Given the description of an element on the screen output the (x, y) to click on. 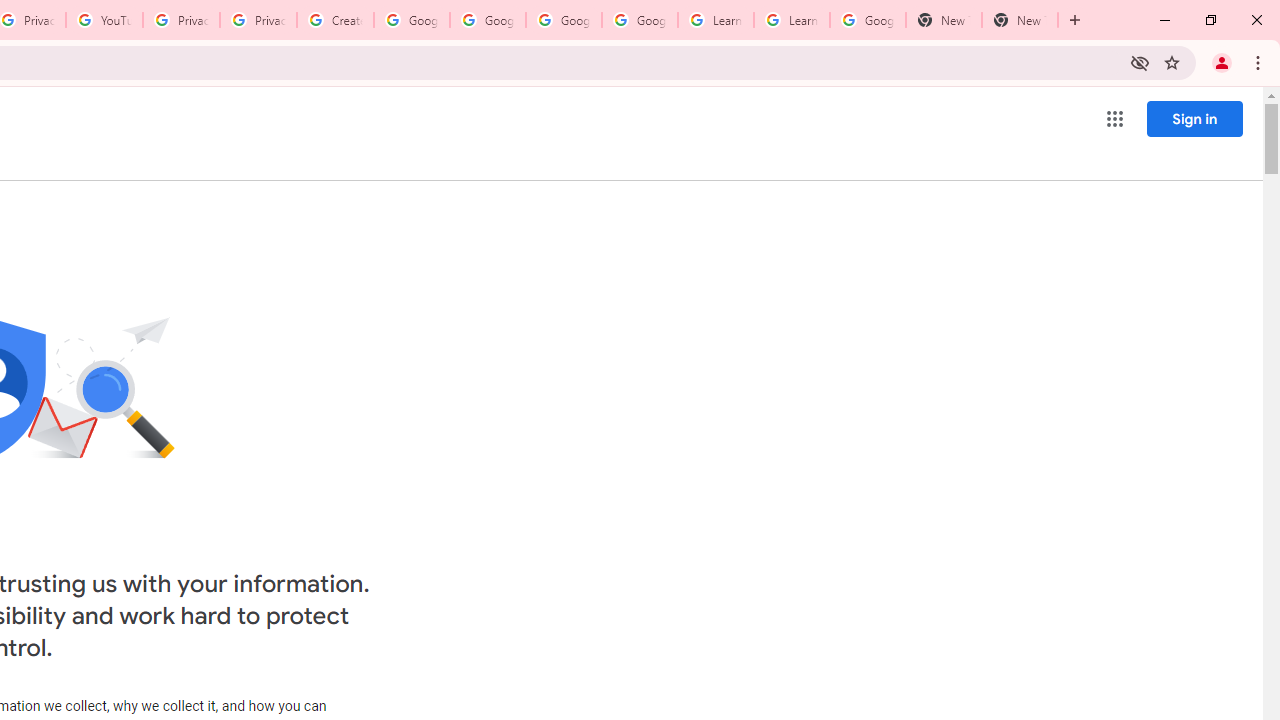
YouTube (104, 20)
Google Account Help (411, 20)
Google Account (867, 20)
Google Account Help (488, 20)
Create your Google Account (335, 20)
